Given the description of an element on the screen output the (x, y) to click on. 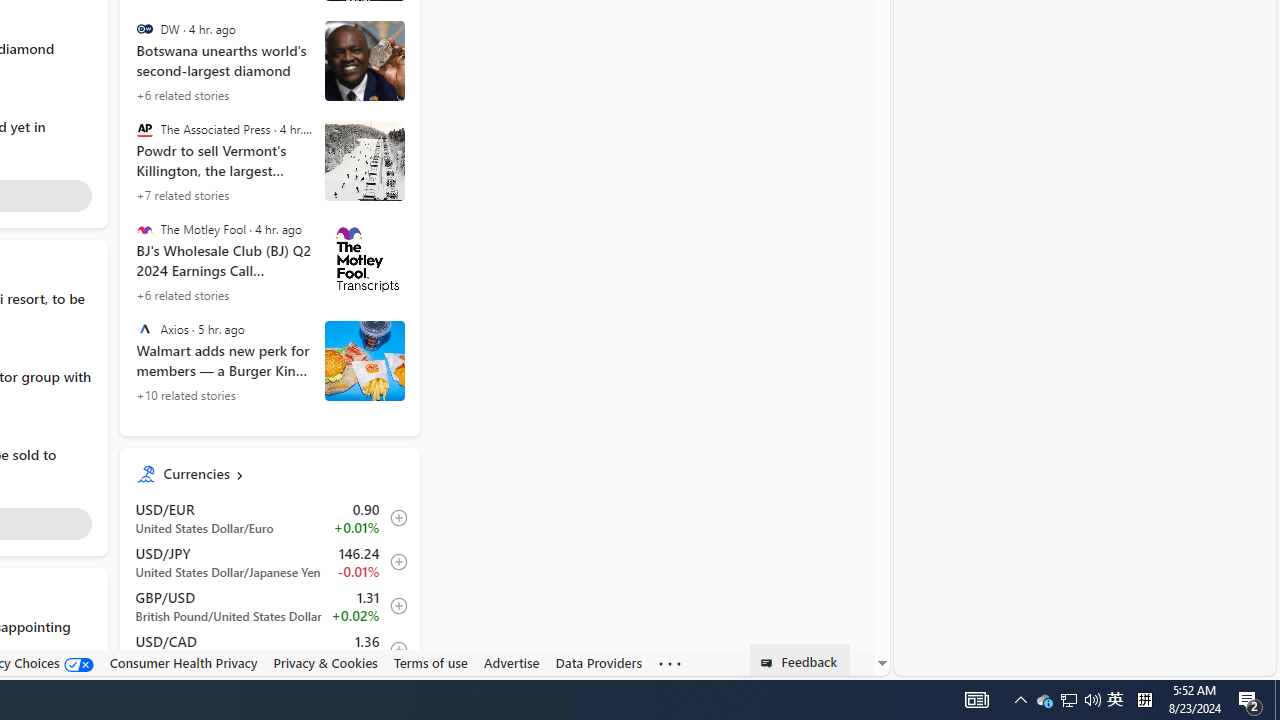
Add to Watchlist (393, 650)
Consumer Health Privacy (183, 662)
See more (669, 664)
Botswana unearths world's second-largest diamond - DW (363, 61)
Advertise (511, 663)
Feedback (799, 659)
DW (144, 29)
Consumer Health Privacy (183, 663)
Terms of use (430, 663)
Terms of use (430, 662)
